Given the description of an element on the screen output the (x, y) to click on. 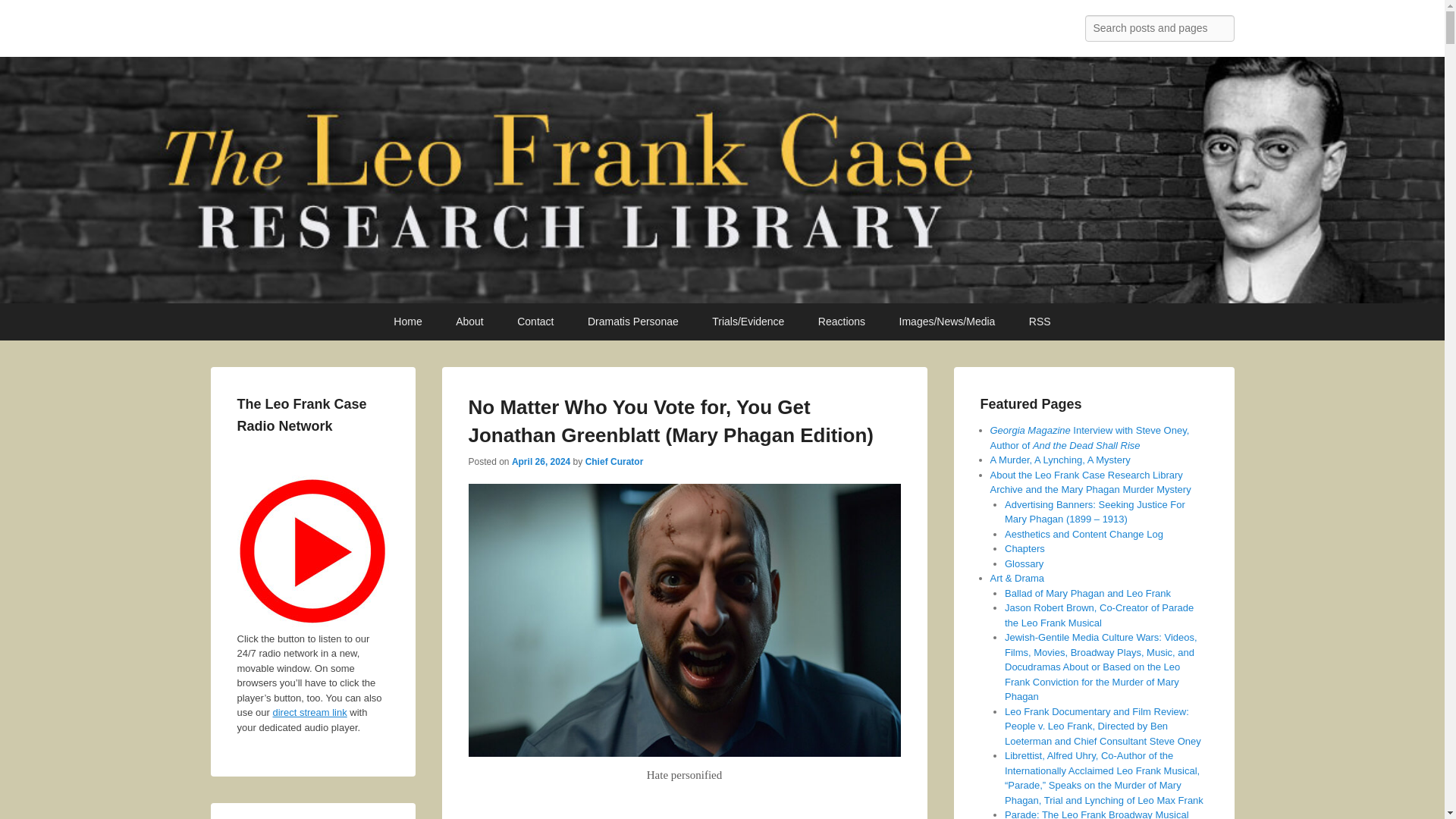
Contact (535, 321)
Search (24, 14)
The Leo Frank Case Research Library (455, 31)
About (470, 321)
View all posts by Chief Curator (614, 461)
Dramatis Personae (633, 321)
Home (407, 321)
1:27 PM (541, 461)
The Leo Frank Case Research Library (455, 31)
